Given the description of an element on the screen output the (x, y) to click on. 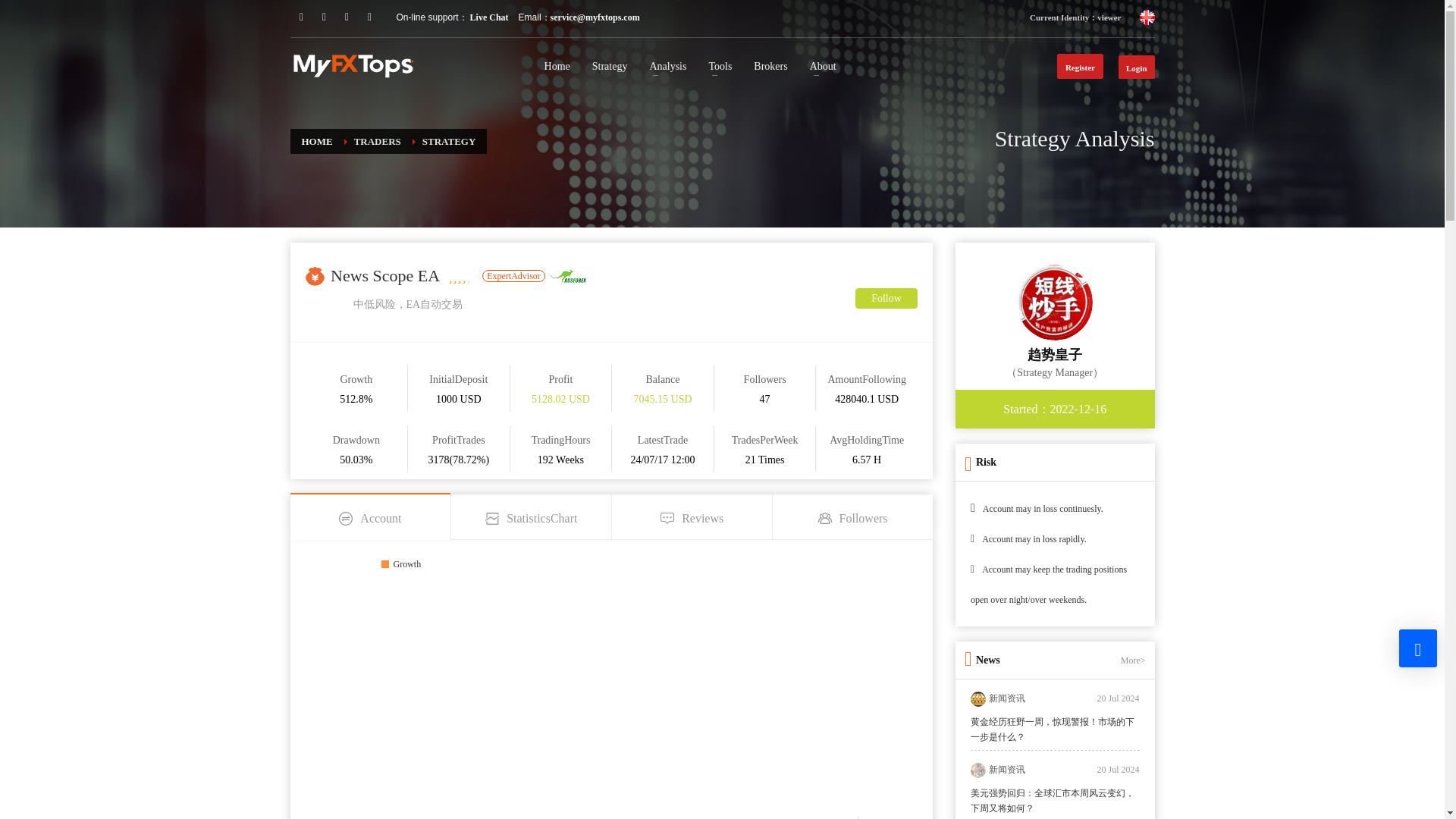
Brokers (770, 66)
Tools (719, 66)
QQ (301, 16)
About (822, 66)
Home (557, 66)
Register (1080, 66)
Email (346, 16)
WeChat (323, 16)
Strategy (610, 66)
Weibo (369, 16)
Live Chat (489, 17)
Analysis (667, 66)
